Given the description of an element on the screen output the (x, y) to click on. 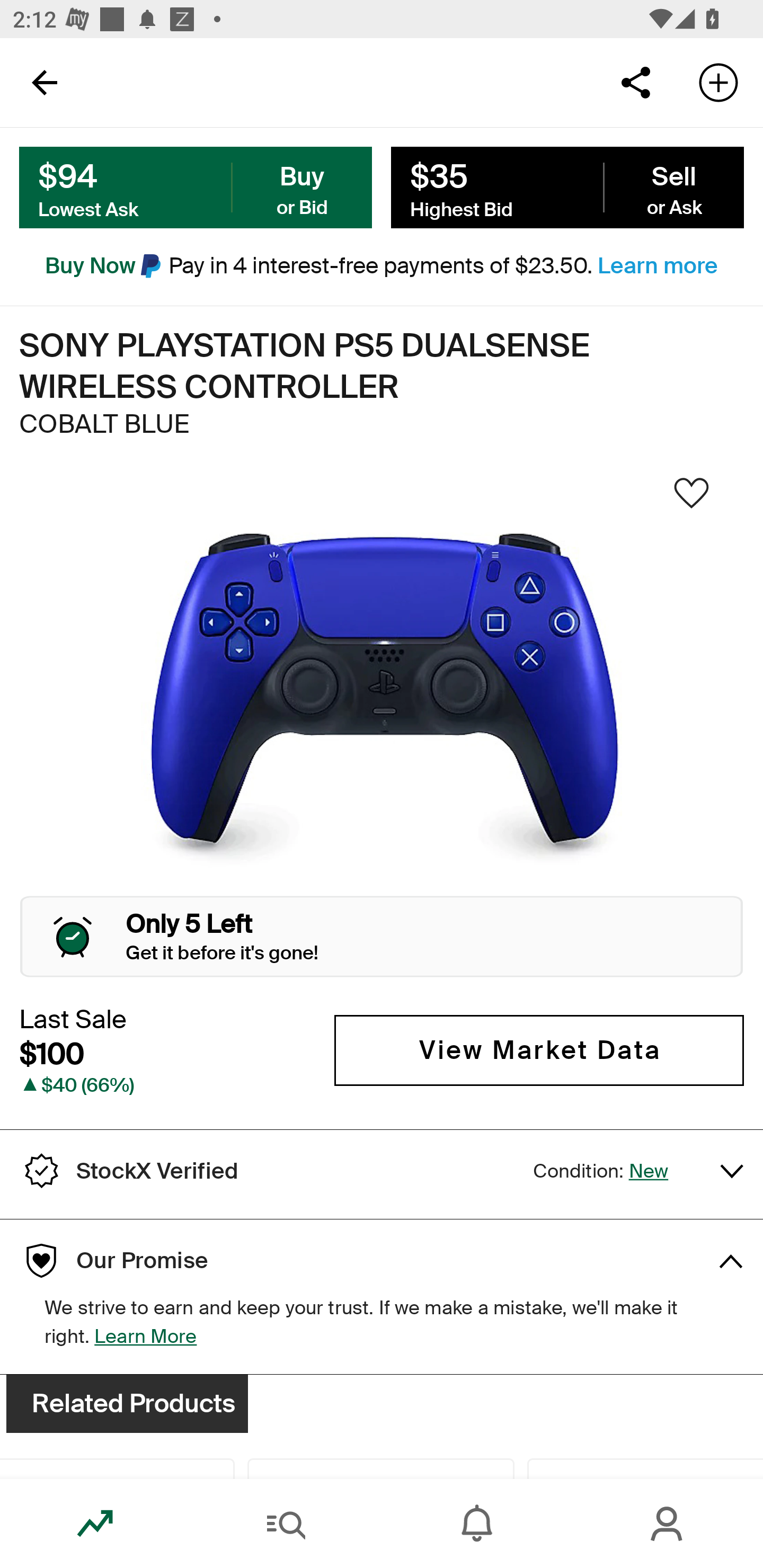
Share (635, 81)
Add (718, 81)
$233 Buy Lowest Ask or Bid (195, 187)
$219 Sell Highest Bid or Ask (566, 187)
Sneaker Image (381, 698)
View Market Data (538, 1050)
Search (285, 1523)
Inbox (476, 1523)
Account (667, 1523)
